Given the description of an element on the screen output the (x, y) to click on. 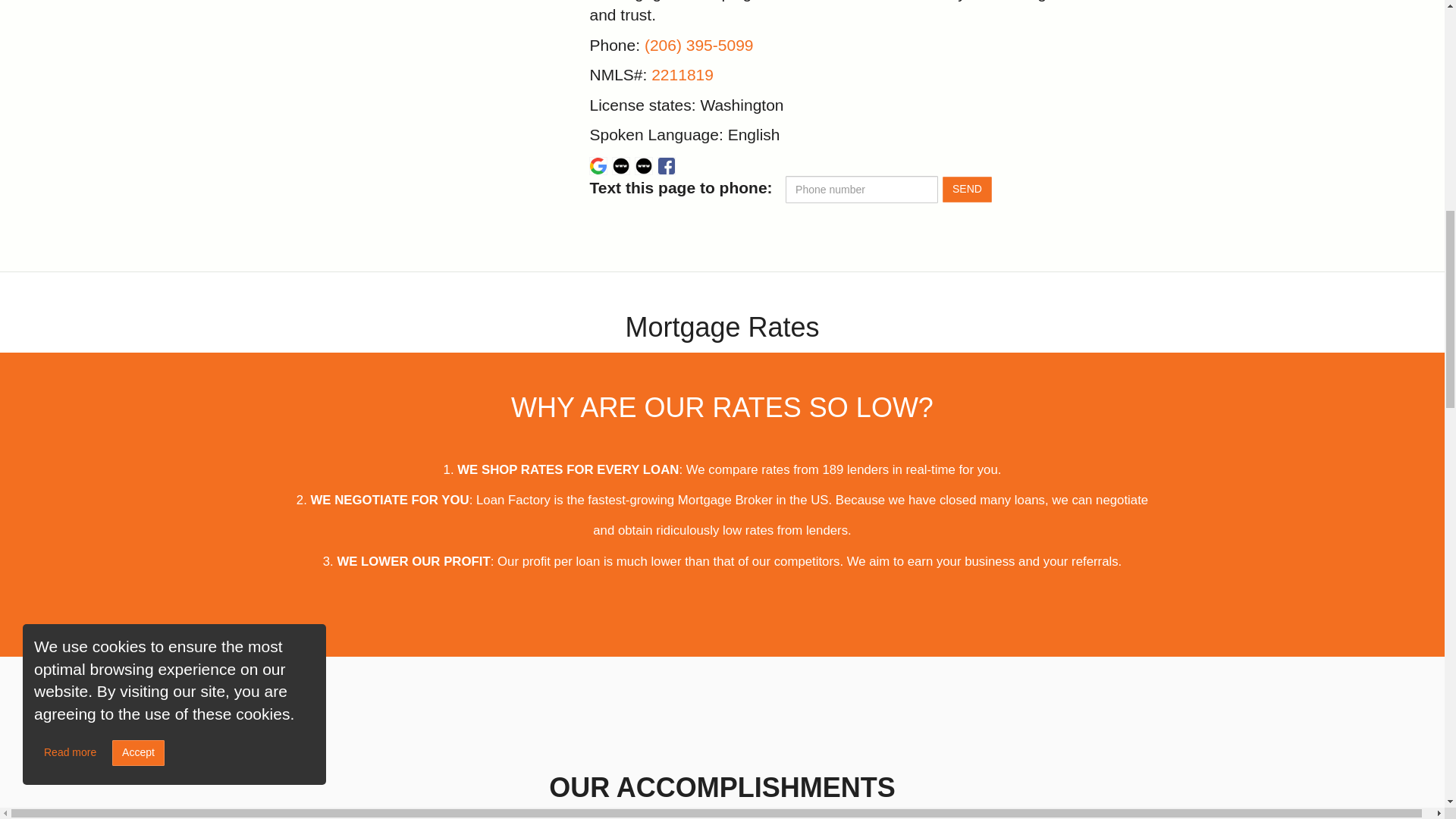
2211819 (681, 74)
SEND (966, 189)
